Given the description of an element on the screen output the (x, y) to click on. 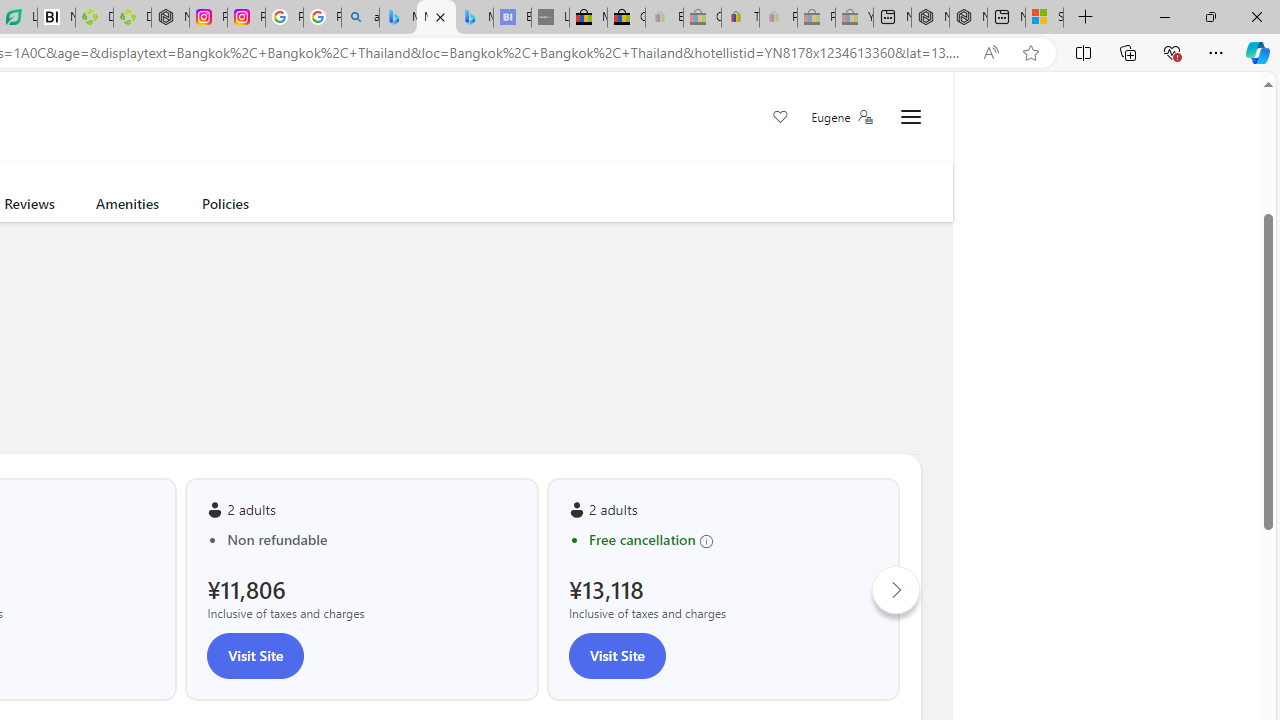
Save (780, 118)
Visit Site (616, 655)
Payments Terms of Use | eBay.com - Sleeping (778, 17)
Microsoft Bing Travel - Flights from Hong Kong to Bangkok (398, 17)
Trip.com (840, 108)
Descarga Driver Updater (132, 17)
